Given the description of an element on the screen output the (x, y) to click on. 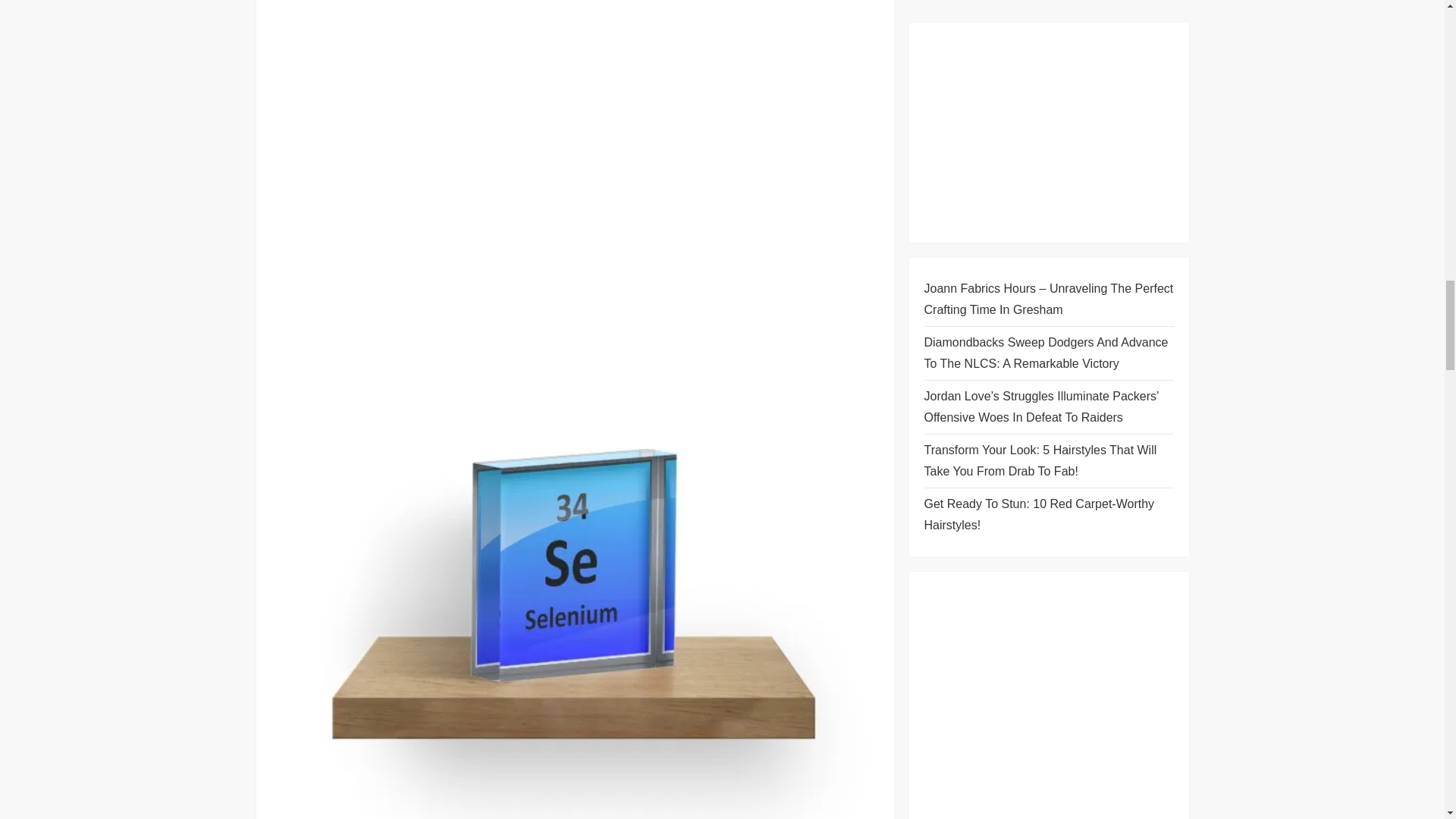
Advertisement (574, 119)
